Given the description of an element on the screen output the (x, y) to click on. 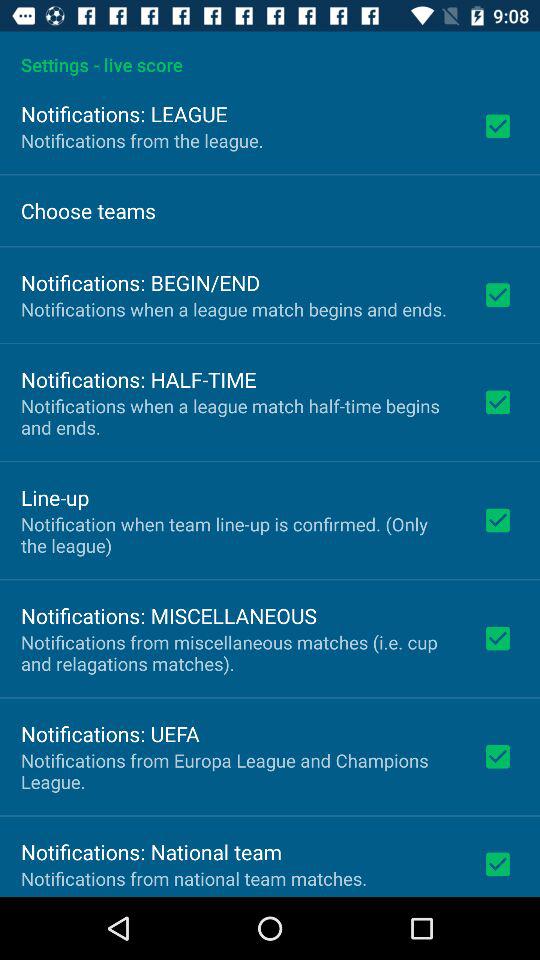
click the choose teams icon (88, 210)
